Given the description of an element on the screen output the (x, y) to click on. 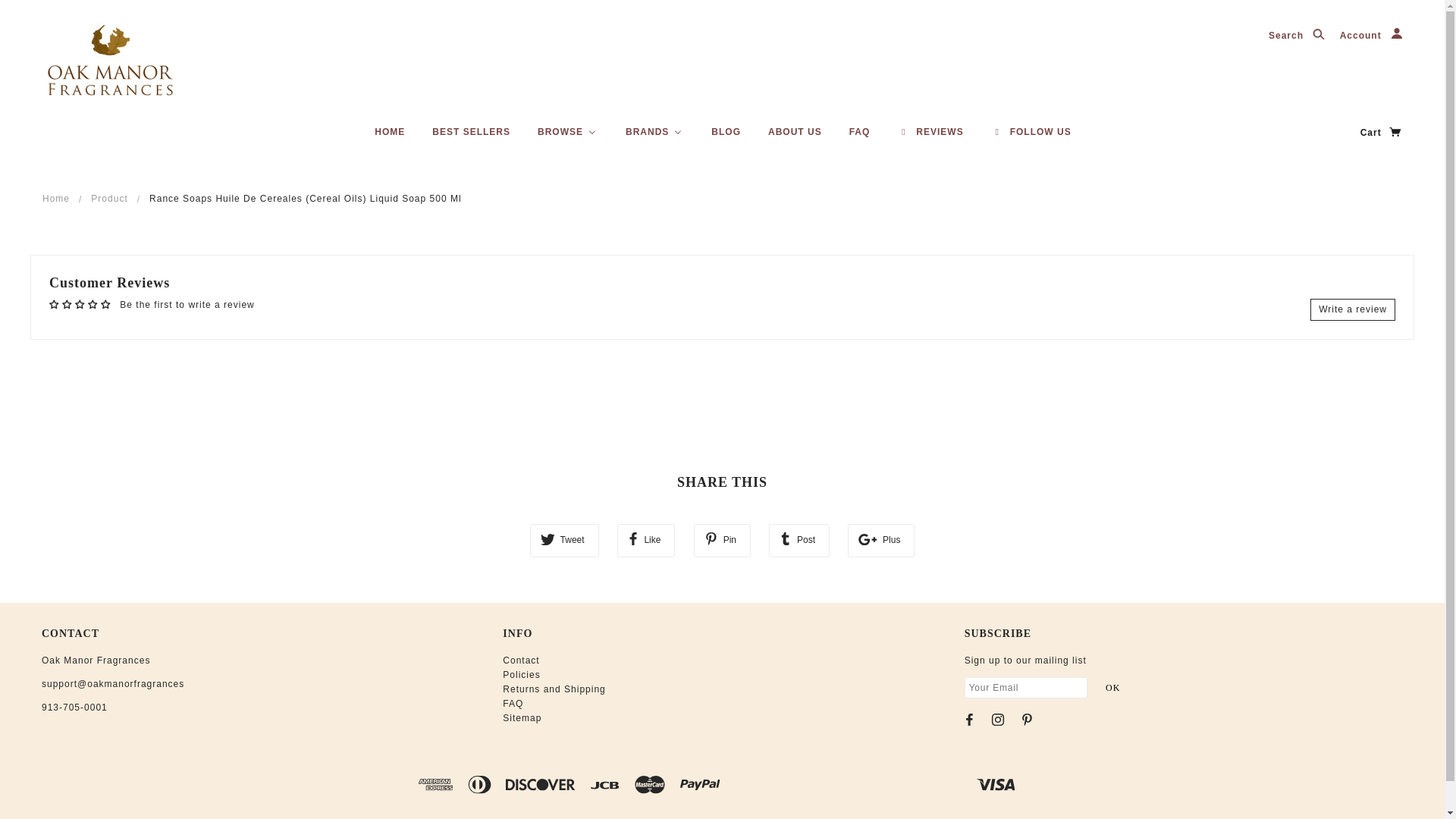
Oak Manor Fragrances (110, 60)
OK (1112, 687)
